Given the description of an element on the screen output the (x, y) to click on. 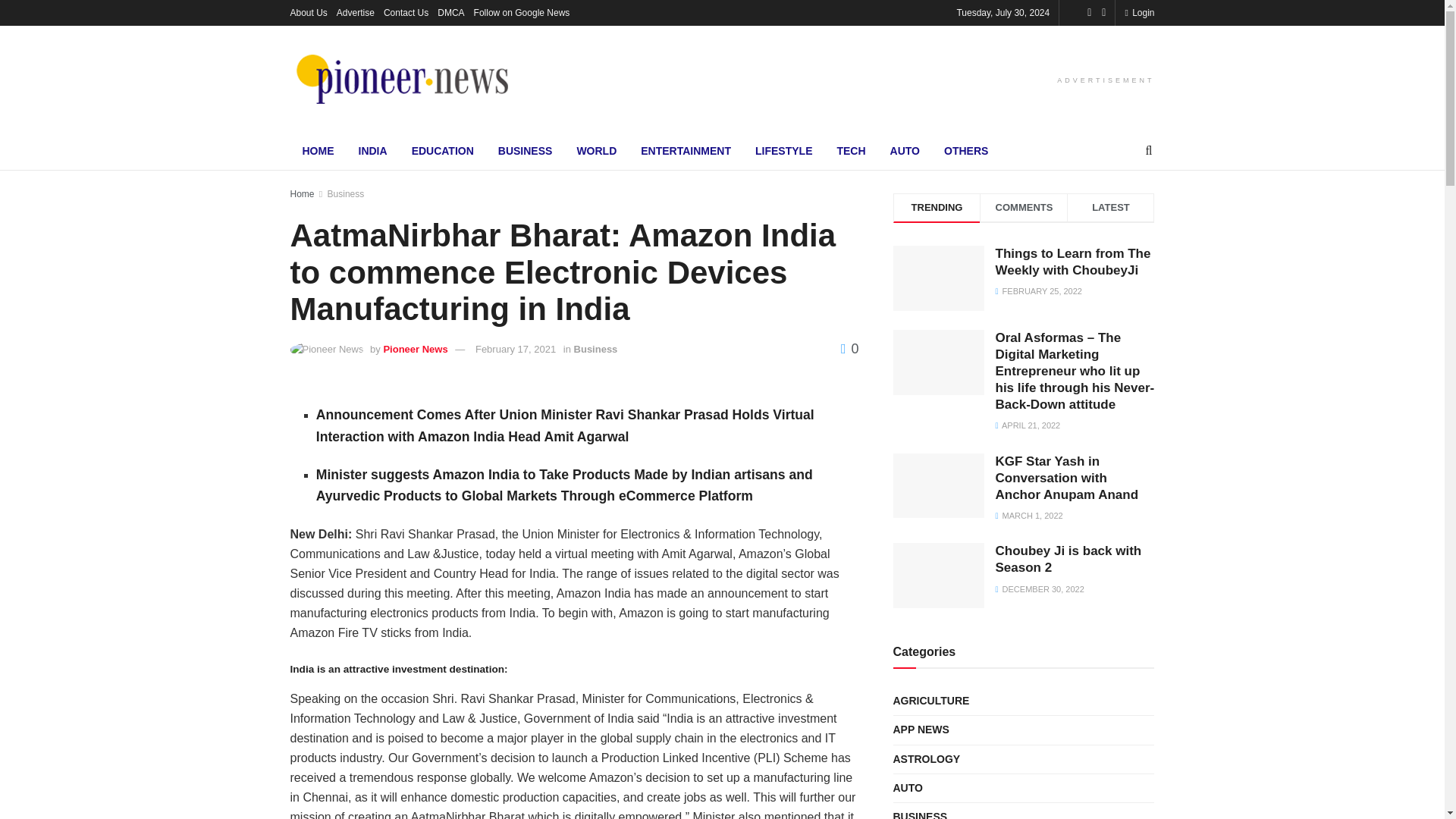
BUSINESS (525, 150)
HOME (317, 150)
WORLD (596, 150)
Advertise (355, 12)
OTHERS (965, 150)
About Us (307, 12)
Contact Us (406, 12)
DMCA (451, 12)
Follow on Google News (522, 12)
LIFESTYLE (783, 150)
ENTERTAINMENT (685, 150)
INDIA (372, 150)
TECH (850, 150)
AUTO (904, 150)
EDUCATION (442, 150)
